Given the description of an element on the screen output the (x, y) to click on. 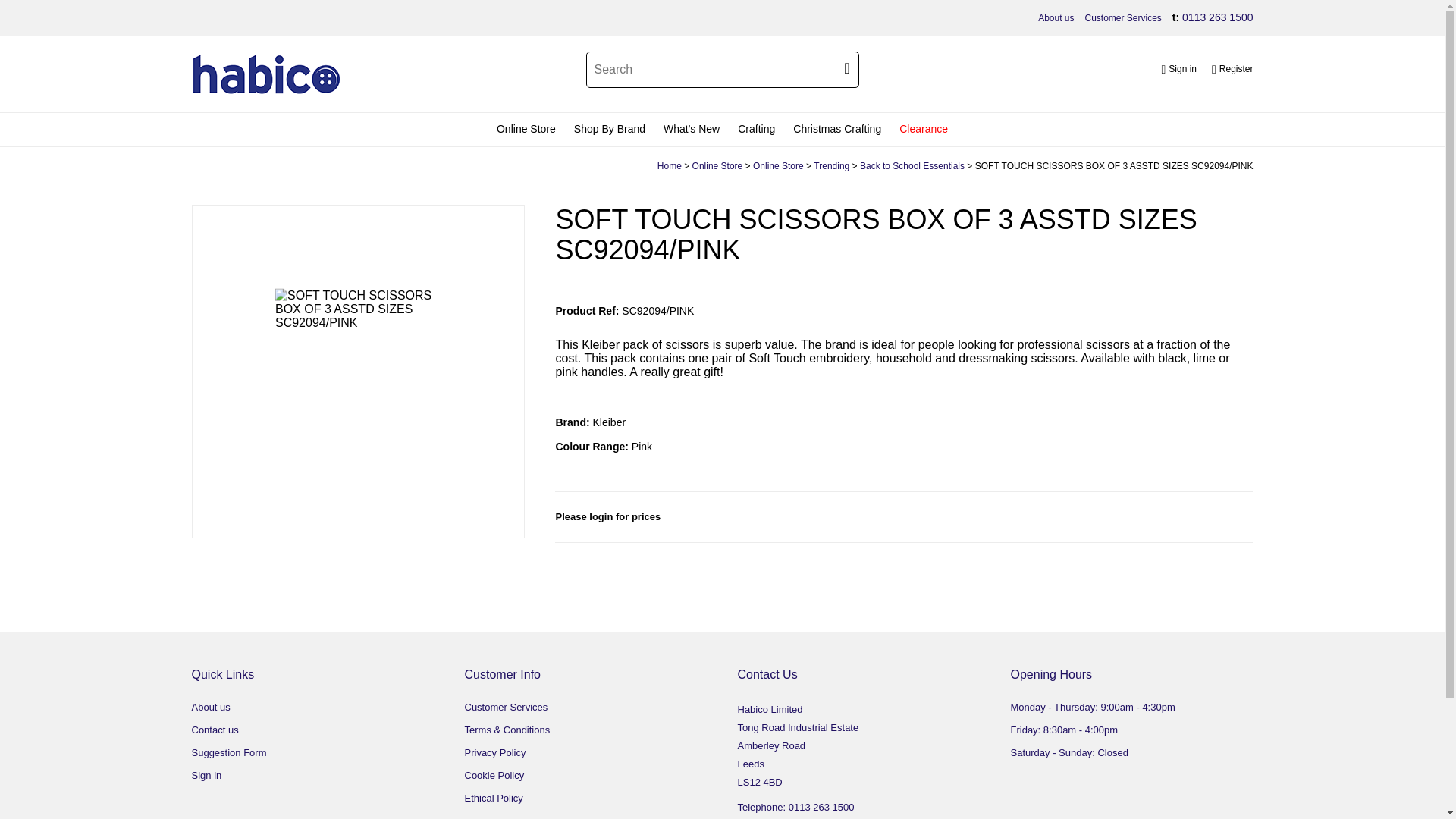
Register (1232, 69)
Shop By Brand (608, 129)
Customer Services (1122, 18)
About us (1056, 18)
0113 263 1500 (1217, 17)
Sign in (1178, 69)
Online Store (525, 129)
